Given the description of an element on the screen output the (x, y) to click on. 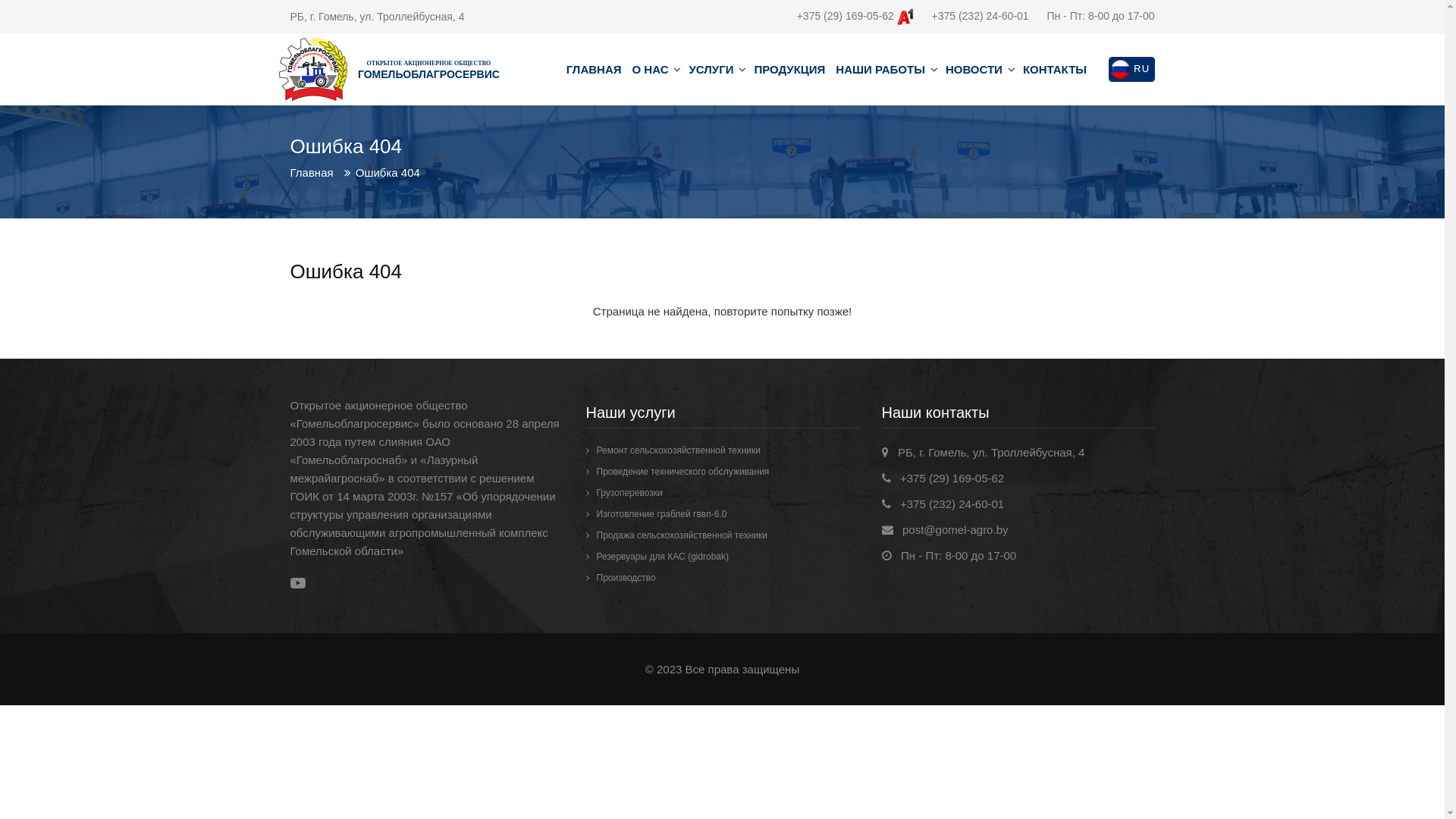
+375 (232) 24-60-01 Element type: text (979, 15)
RU Element type: text (1131, 68)
post@gomel-agro.by Element type: text (954, 529)
+375 (29) 169-05-62 Element type: text (855, 15)
